Given the description of an element on the screen output the (x, y) to click on. 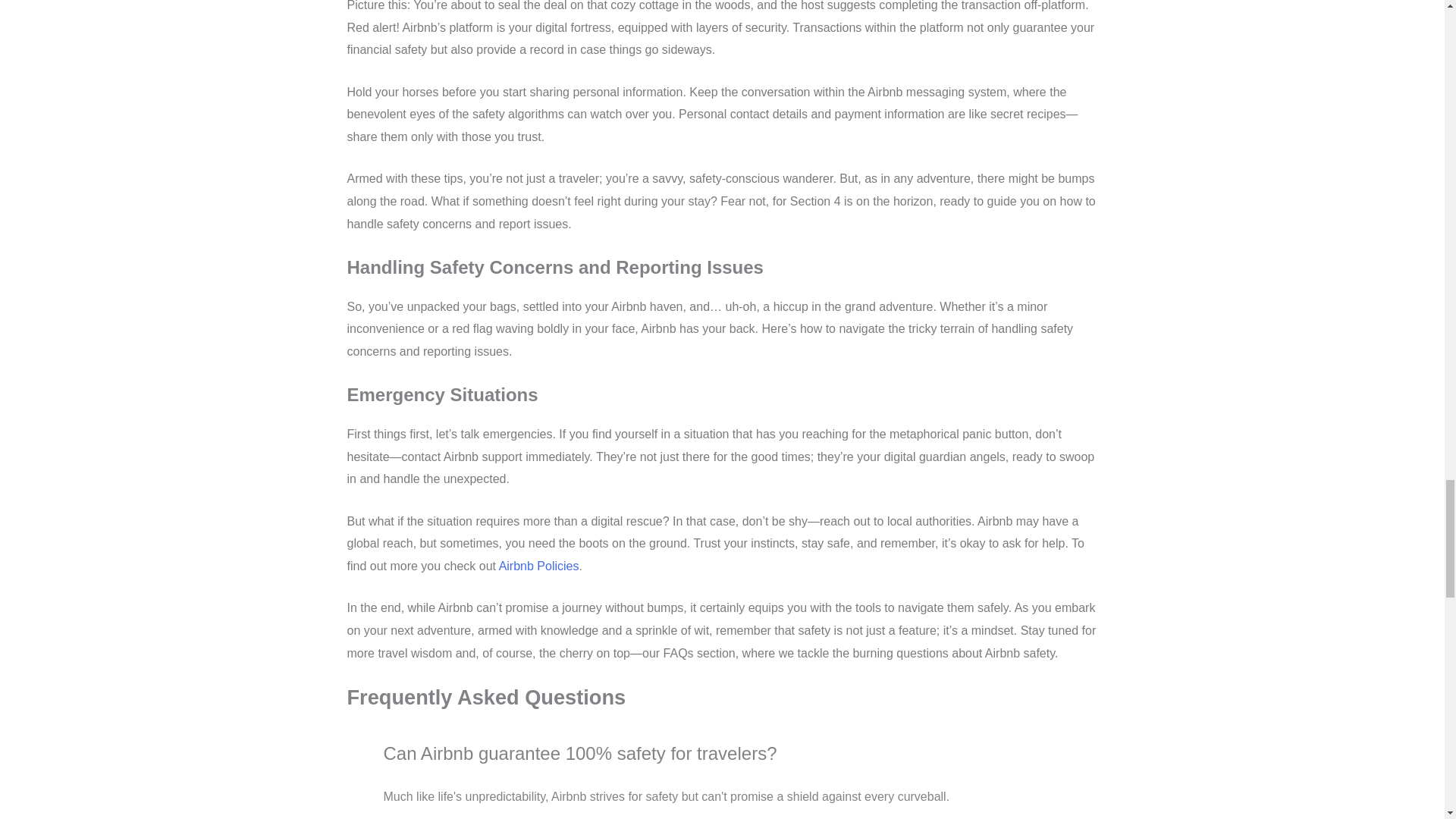
Airbnb Policies (539, 565)
